Given the description of an element on the screen output the (x, y) to click on. 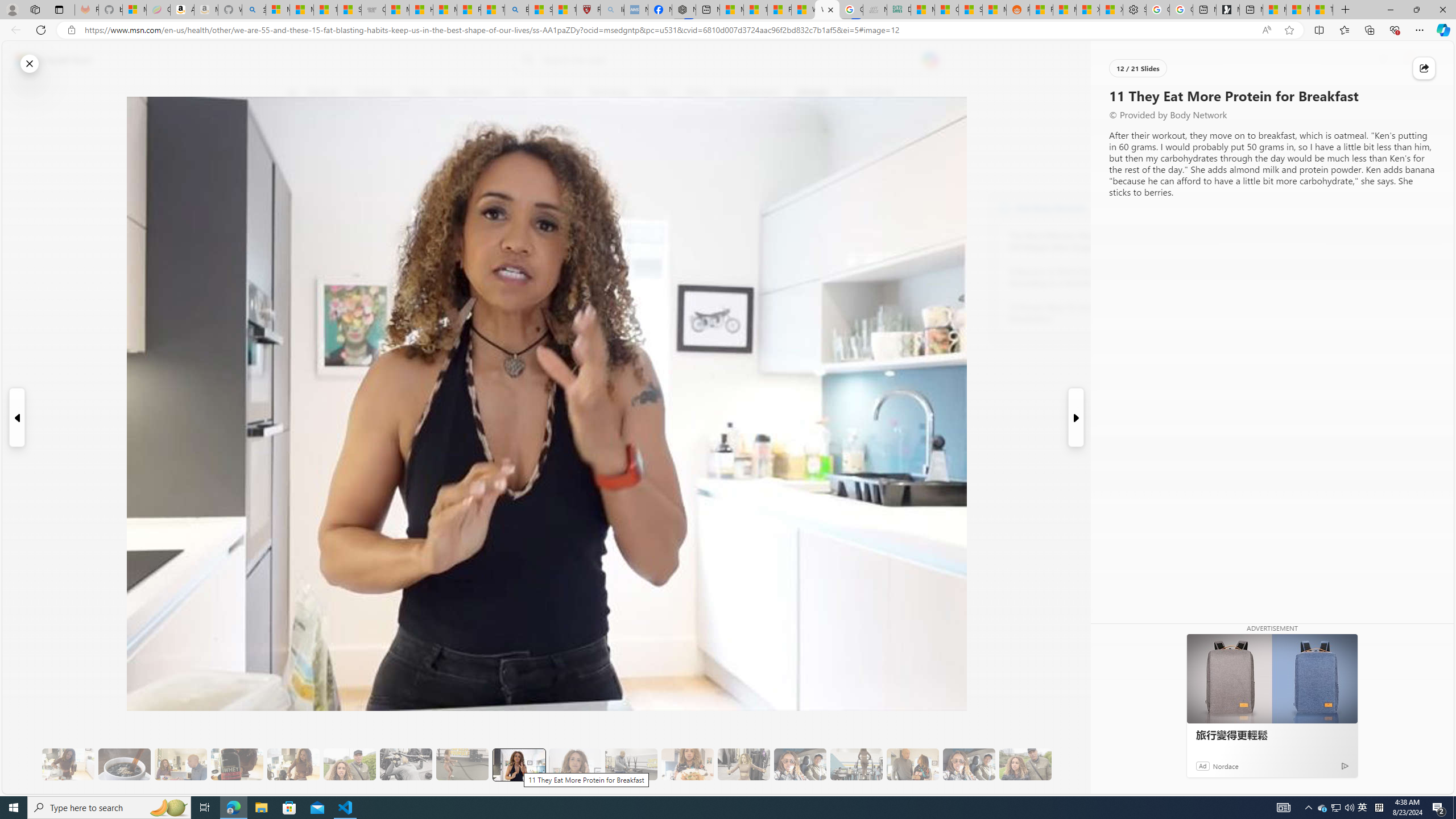
How I Got Rid of Microsoft Edge's Unnecessary Features (421, 9)
3 They Drink Lemon Tea (68, 764)
7 They Don't Skip Meals (293, 764)
6 (299, 170)
6 Like (299, 138)
19 It Also Simplifies Thiings (968, 764)
Navy Quest (874, 9)
12 Proven Ways To Increase Your Metabolism (1071, 313)
MSN (993, 9)
6 Since Eating More Protein Her Training Has Improved (237, 764)
